Given the description of an element on the screen output the (x, y) to click on. 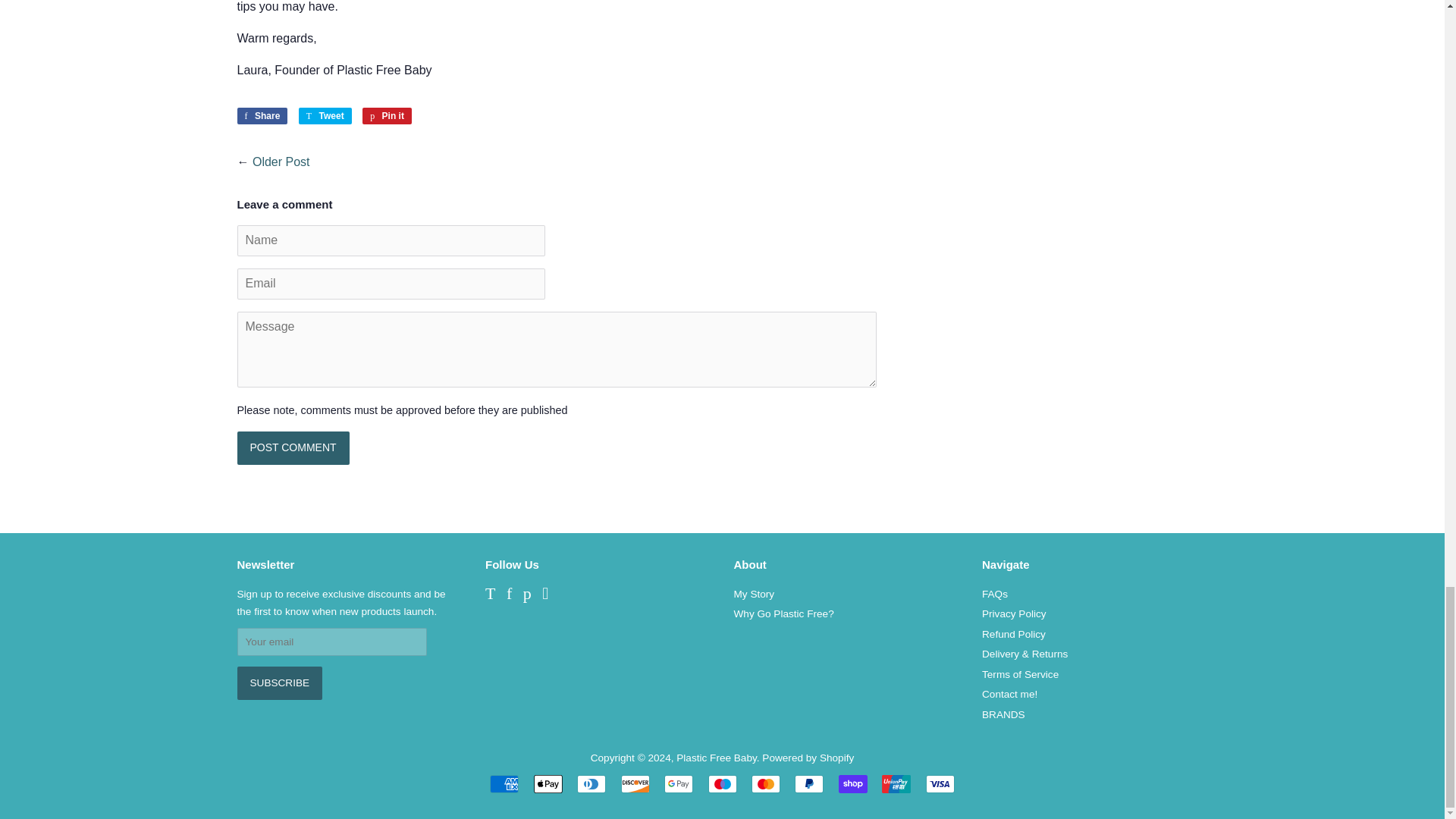
Share on Facebook (260, 115)
Union Pay (896, 782)
Visa (940, 782)
Pin on Pinterest (387, 115)
Google Pay (678, 782)
Post comment (292, 448)
Apple Pay (548, 782)
Mastercard (765, 782)
Shop Pay (852, 782)
Tweet on Twitter (325, 115)
American Express (503, 782)
Subscribe (278, 683)
PayPal (809, 782)
Diners Club (590, 782)
Discover (635, 782)
